Given the description of an element on the screen output the (x, y) to click on. 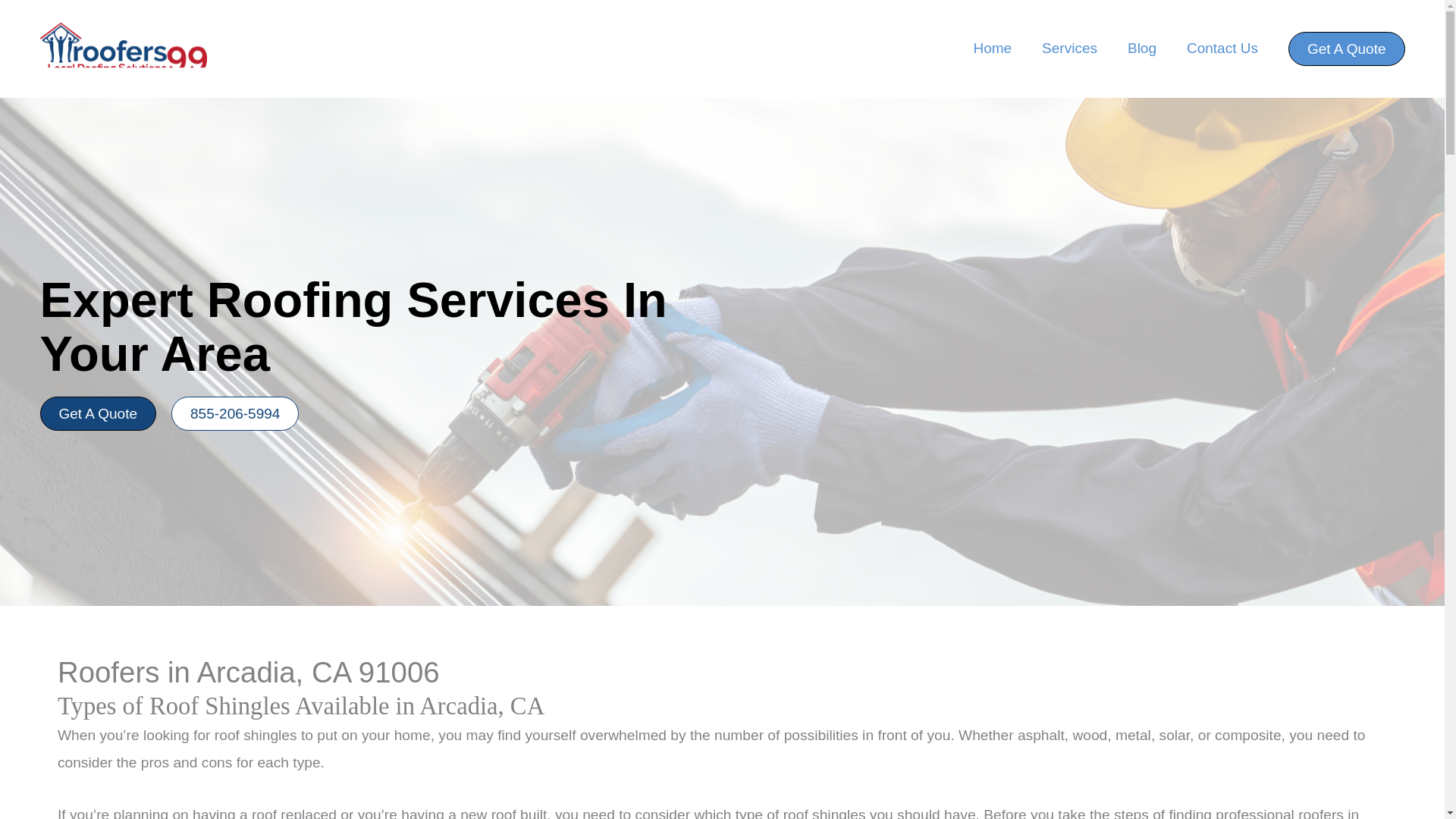
Home (992, 48)
855-206-5994 (234, 413)
Contact Us (1222, 48)
Services (1069, 48)
Get A Quote (97, 413)
Get A Quote (1346, 48)
Blog (1142, 48)
